Given the description of an element on the screen output the (x, y) to click on. 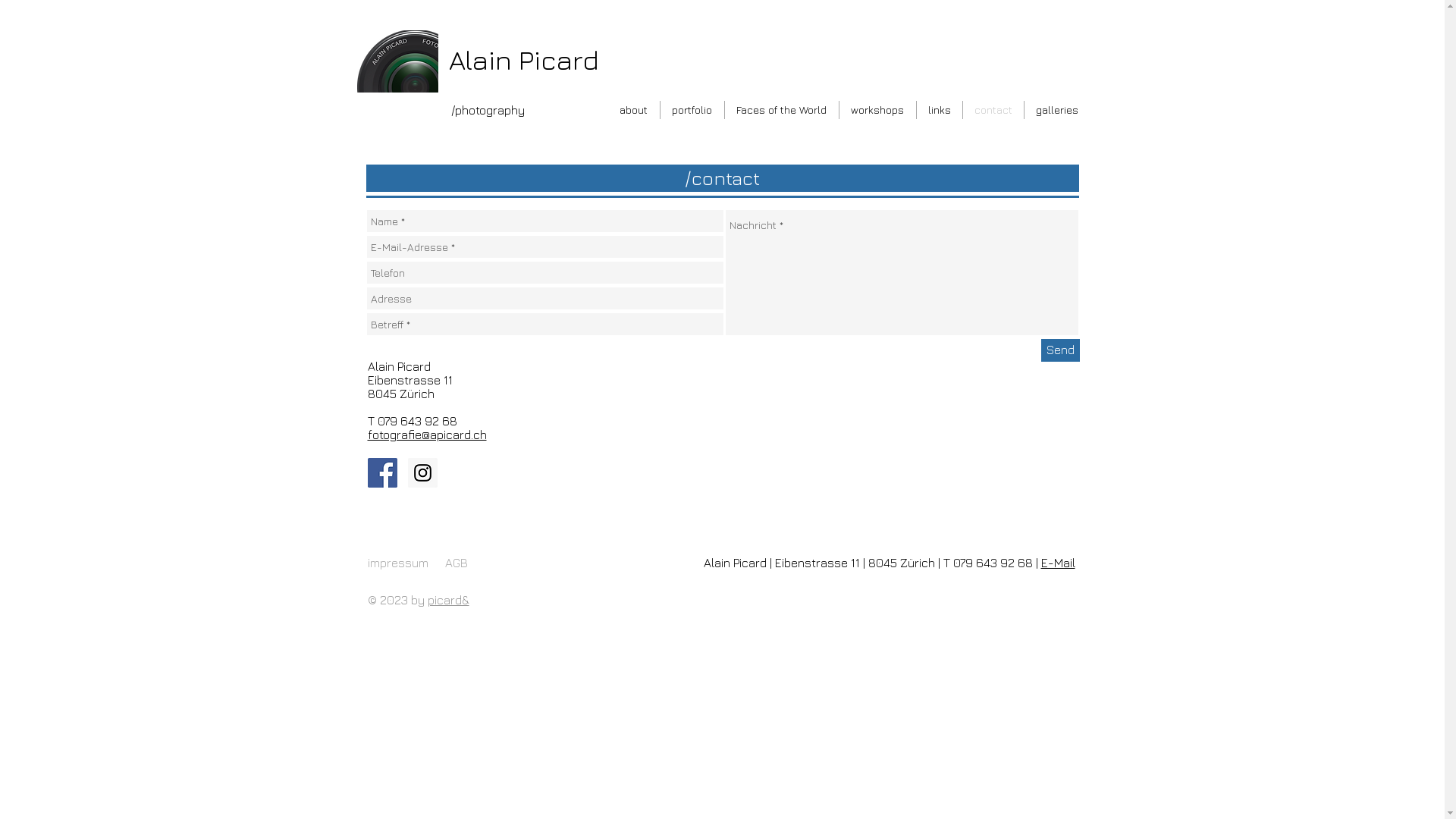
fotografie@apicard.ch Element type: text (426, 434)
galleries Element type: text (1055, 109)
picard& Element type: text (448, 599)
Faces of the World Element type: text (781, 109)
AGB Element type: text (455, 562)
Alain Picard Element type: text (523, 59)
links Element type: text (938, 109)
E-Mail Element type: text (1057, 562)
Administratoranmeldung Element type: text (417, 622)
/photography Element type: text (487, 109)
Send Element type: text (1059, 349)
impressum Element type: text (397, 562)
workshops Element type: text (876, 109)
portfolio Element type: text (691, 109)
Objektiv_AP1 Ausschnitt.png Element type: hover (396, 61)
contact Element type: text (993, 109)
about Element type: text (633, 109)
